Given the description of an element on the screen output the (x, y) to click on. 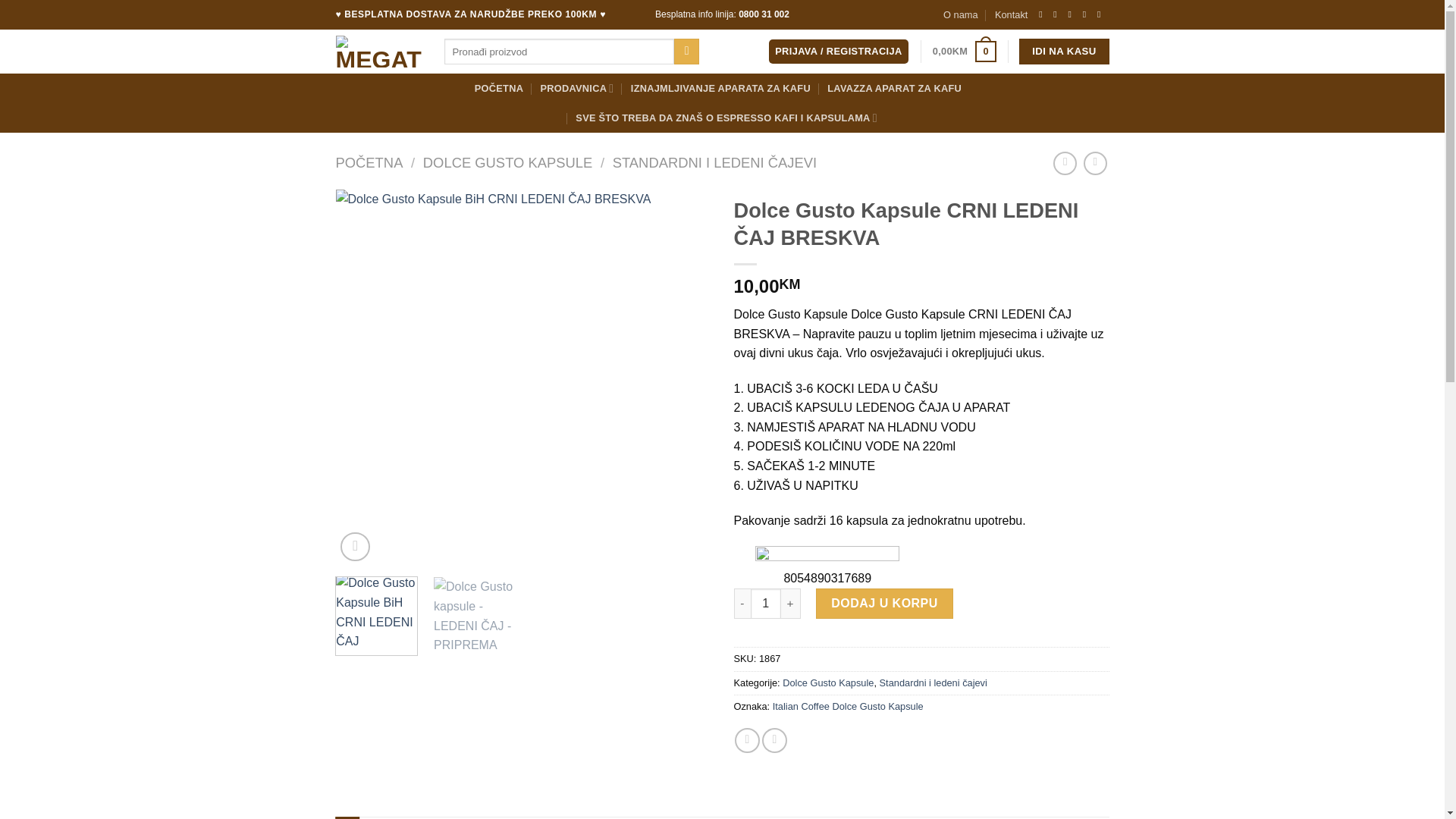
Kontakt Element type: text (1010, 14)
DOLCE GUSTO KAPSULE Element type: text (507, 162)
Call us Element type: hover (1087, 14)
0800 31 002 Element type: text (763, 14)
Zoom Element type: hover (355, 546)
0,00KM
0 Element type: text (964, 51)
Send us an email Element type: hover (1072, 14)
Follow on Instagram Element type: hover (1057, 14)
PRIJAVA / REGISTRACIJA Element type: text (838, 51)
O nama Element type: text (960, 14)
Email to a Friend Element type: hover (774, 740)
DODAJ U KORPU Element type: text (884, 603)
LAVAZZA APARAT ZA KAFU Element type: text (894, 88)
Italian Coffee Dolce Gusto Kapsule Element type: text (847, 706)
PRODAVNICA Element type: text (577, 88)
IZNAJMLJIVANJE APARATA ZA KAFU Element type: text (720, 88)
Follow on YouTube Element type: hover (1101, 14)
IDI NA KASU Element type: text (1063, 51)
Dolce Gusto Kapsule Element type: text (827, 682)
Follow on Facebook Element type: hover (1043, 14)
Share on Facebook Element type: hover (746, 740)
